Given the description of an element on the screen output the (x, y) to click on. 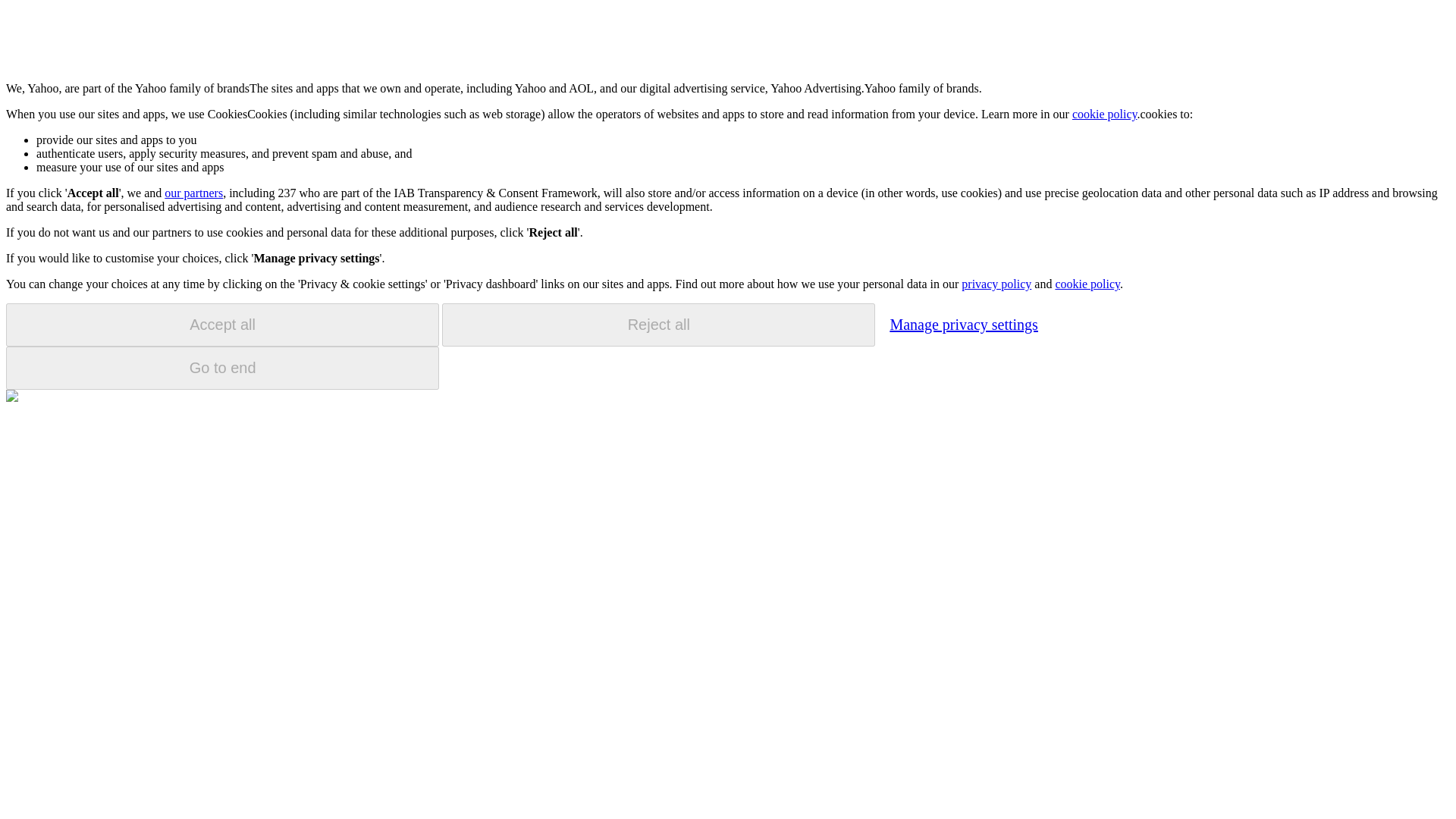
Reject all (658, 324)
our partners (193, 192)
Go to end (222, 367)
cookie policy (1086, 283)
privacy policy (995, 283)
Accept all (222, 324)
Manage privacy settings (963, 323)
cookie policy (1104, 113)
